Given the description of an element on the screen output the (x, y) to click on. 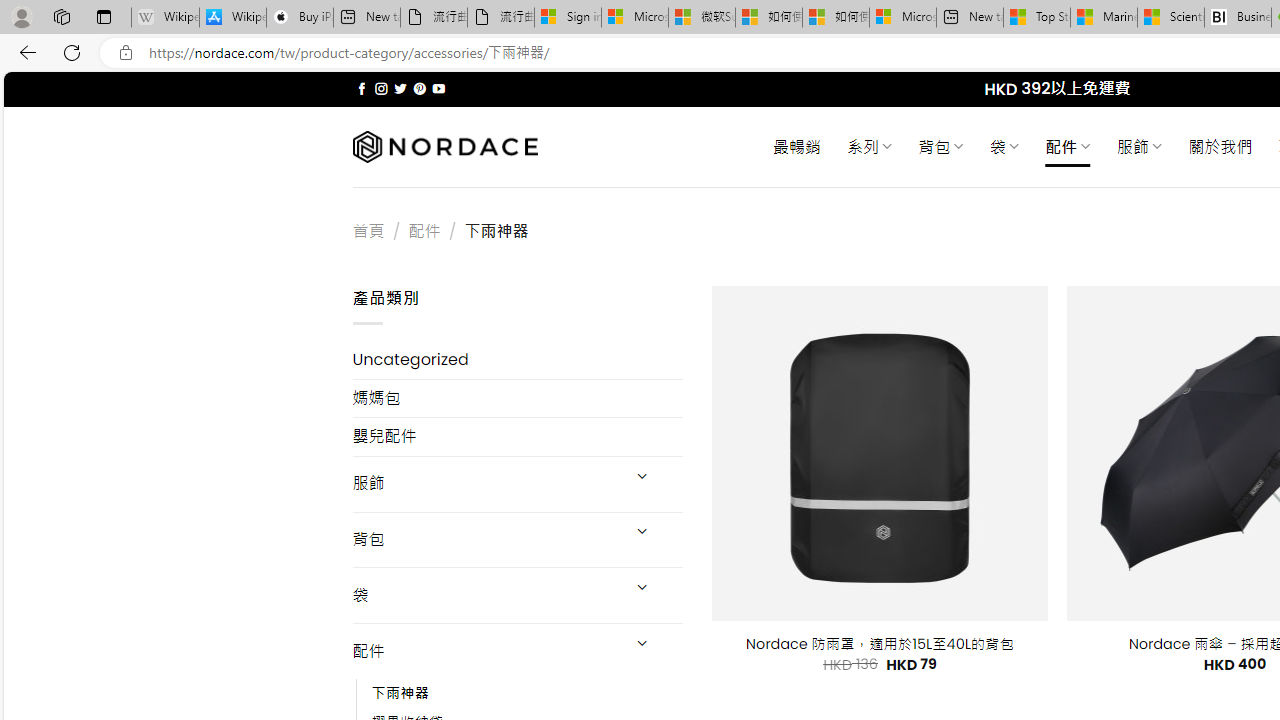
Uncategorized (517, 359)
Top Stories - MSN (1036, 17)
